Given the description of an element on the screen output the (x, y) to click on. 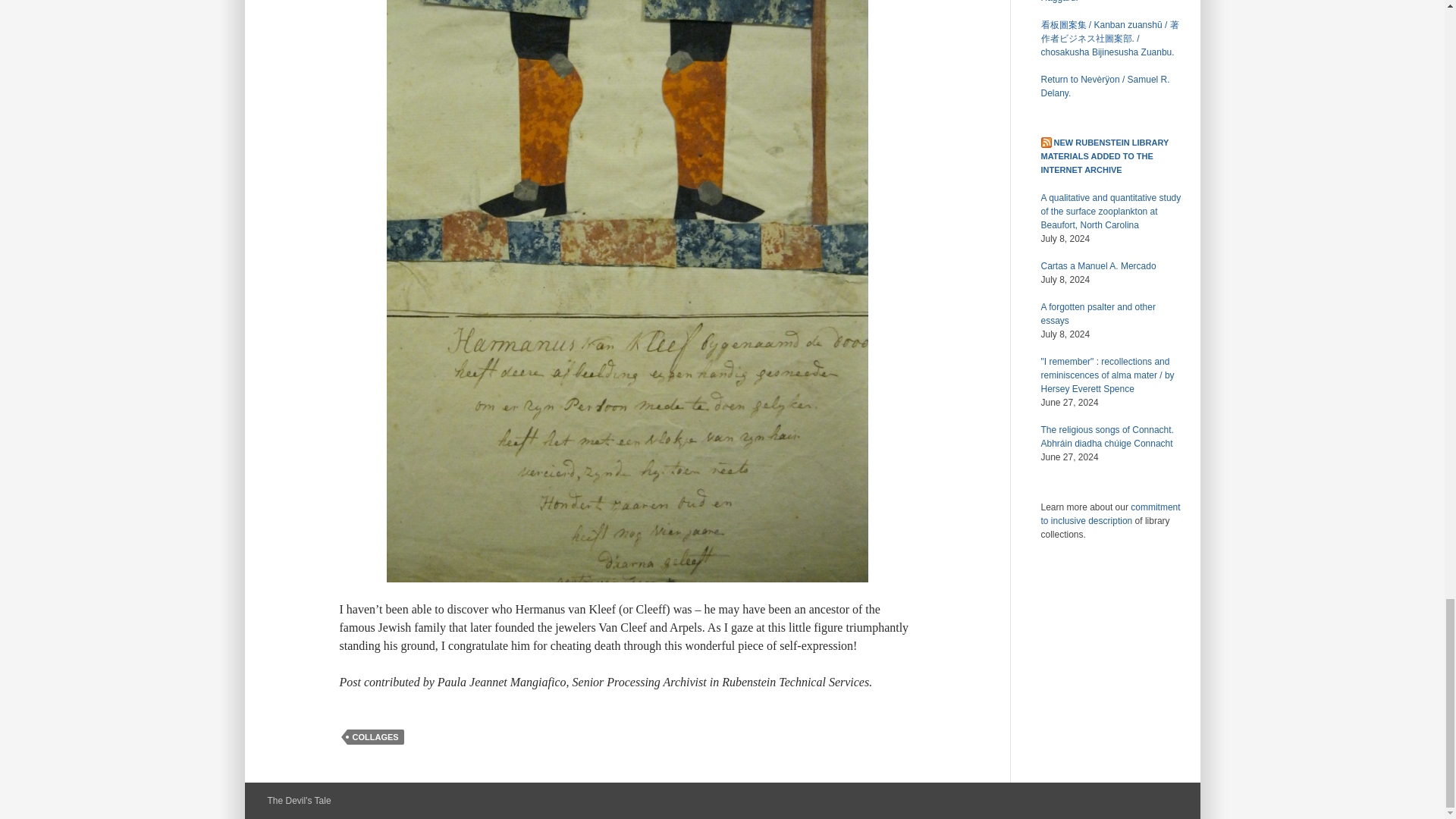
COLLAGES (375, 736)
